Given the description of an element on the screen output the (x, y) to click on. 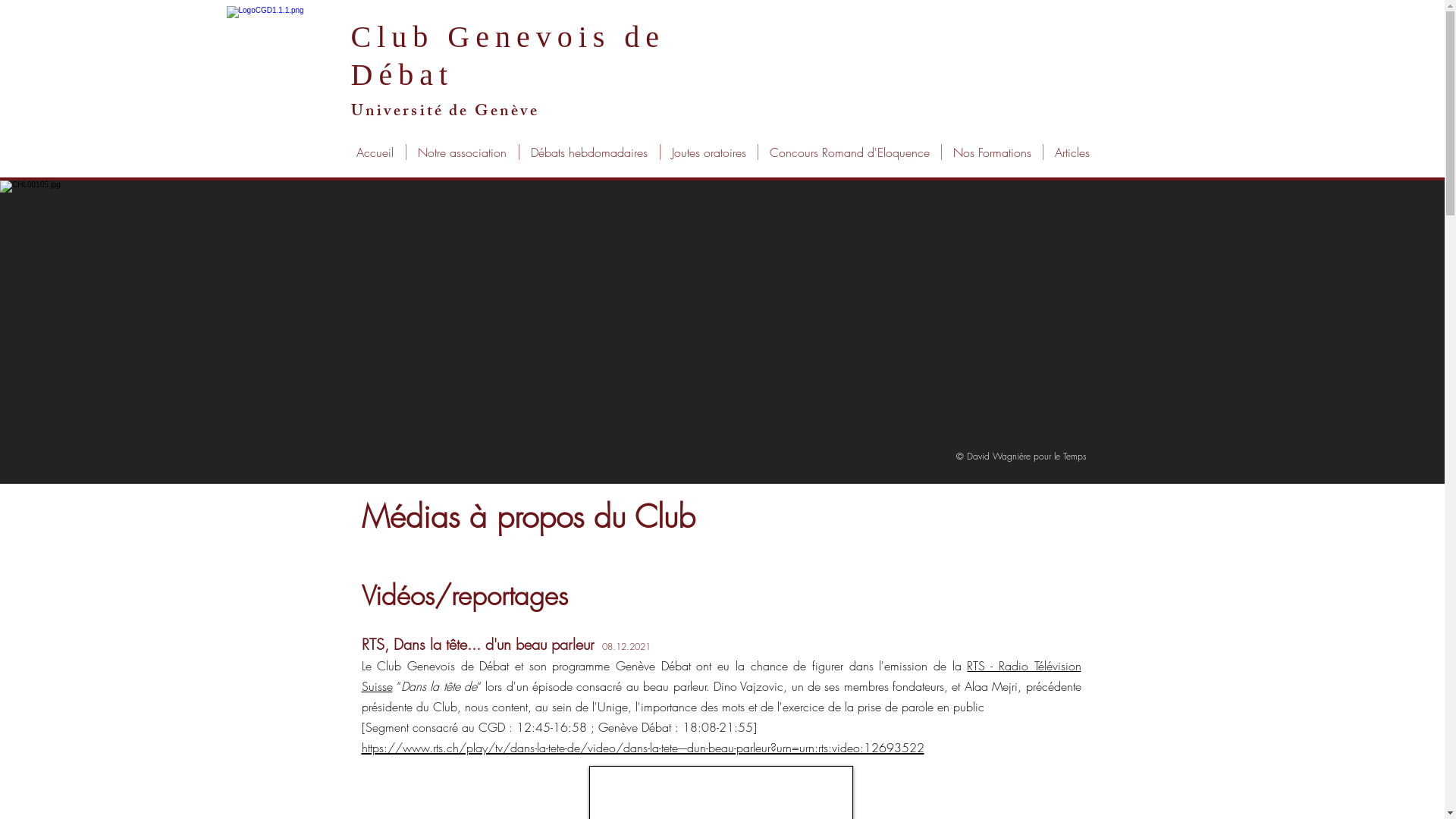
Nos Formations Element type: text (991, 152)
Alaa Mejri Element type: text (990, 685)
Accueil Element type: text (374, 152)
Articles Element type: text (1072, 152)
Concours Romand d'Eloquence Element type: text (849, 152)
Joutes oratoires Element type: text (707, 152)
